Given the description of an element on the screen output the (x, y) to click on. 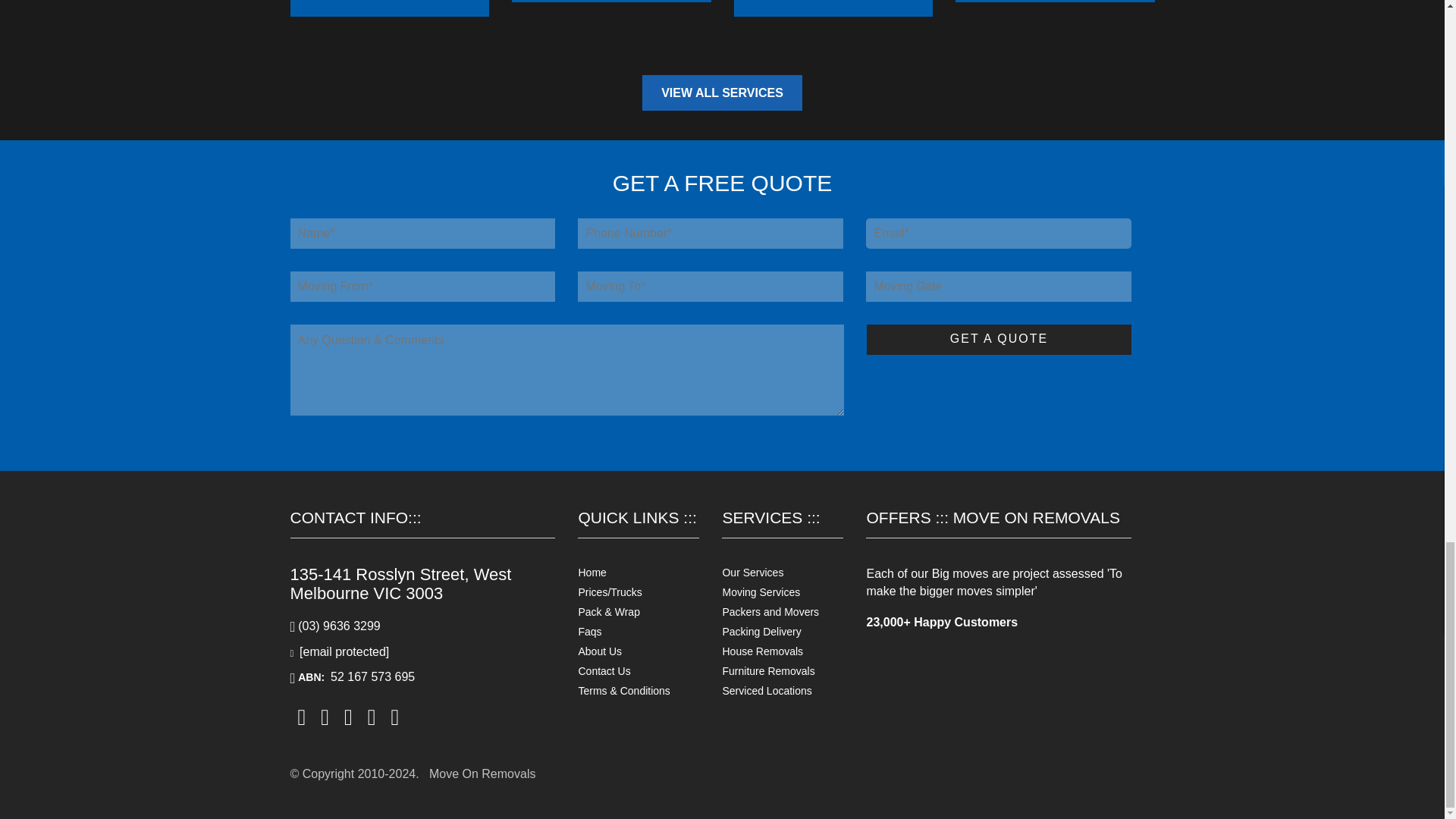
GET A QUOTE (998, 339)
Instagram (324, 715)
LinkedIn (371, 715)
Twitter (347, 715)
Google My Business (394, 715)
Facebook (301, 715)
